Given the description of an element on the screen output the (x, y) to click on. 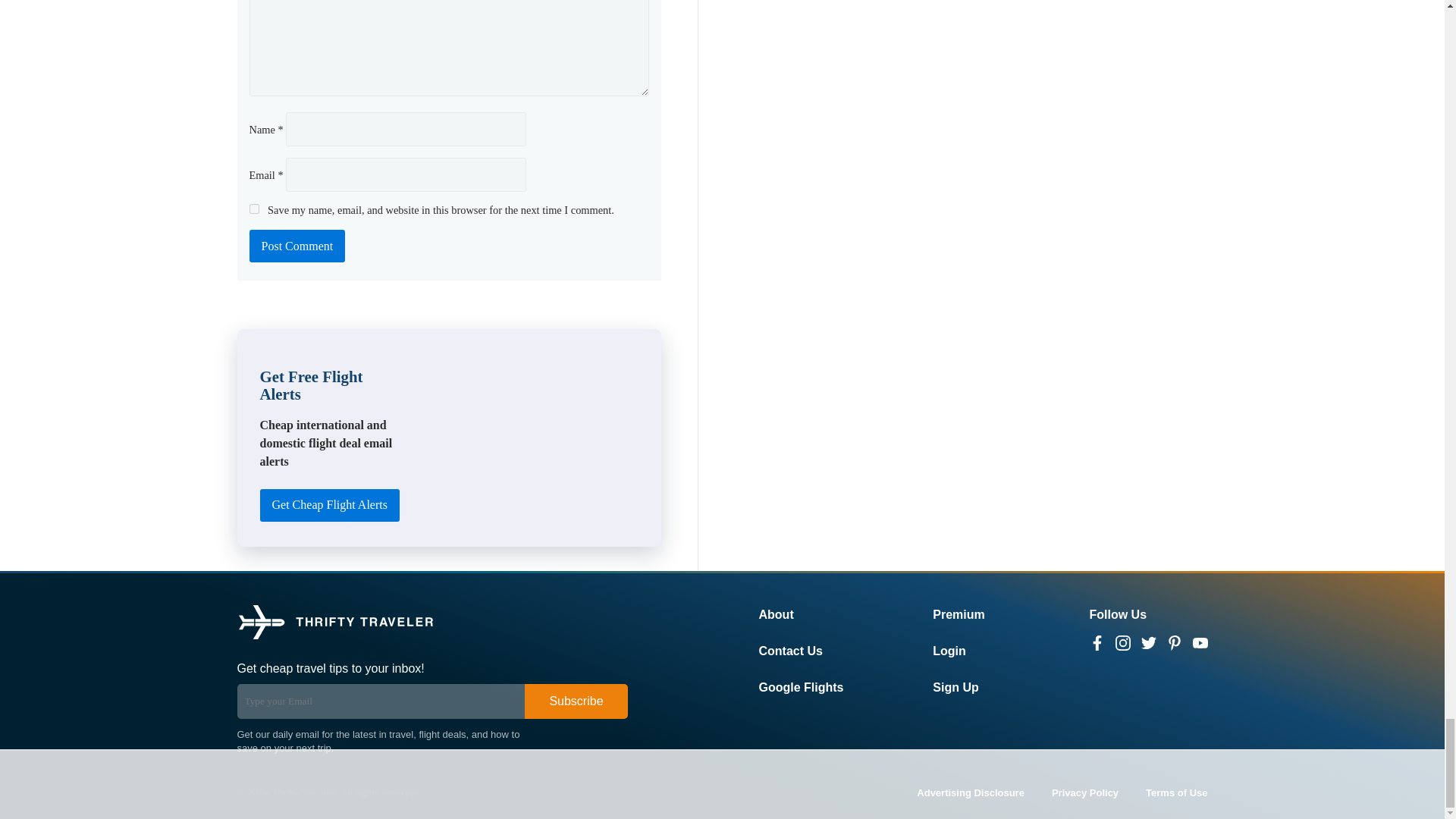
Youtube Logo Youtube Logo (1199, 642)
Post Comment (296, 246)
Pinterest Logo Pinterest Logo (1173, 642)
yes (253, 208)
Twitter Logo Twitter Logo (1148, 642)
Instagram Logo Instagram Logo (1122, 642)
Facebook Logo Facebook Logo (1096, 642)
